Given the description of an element on the screen output the (x, y) to click on. 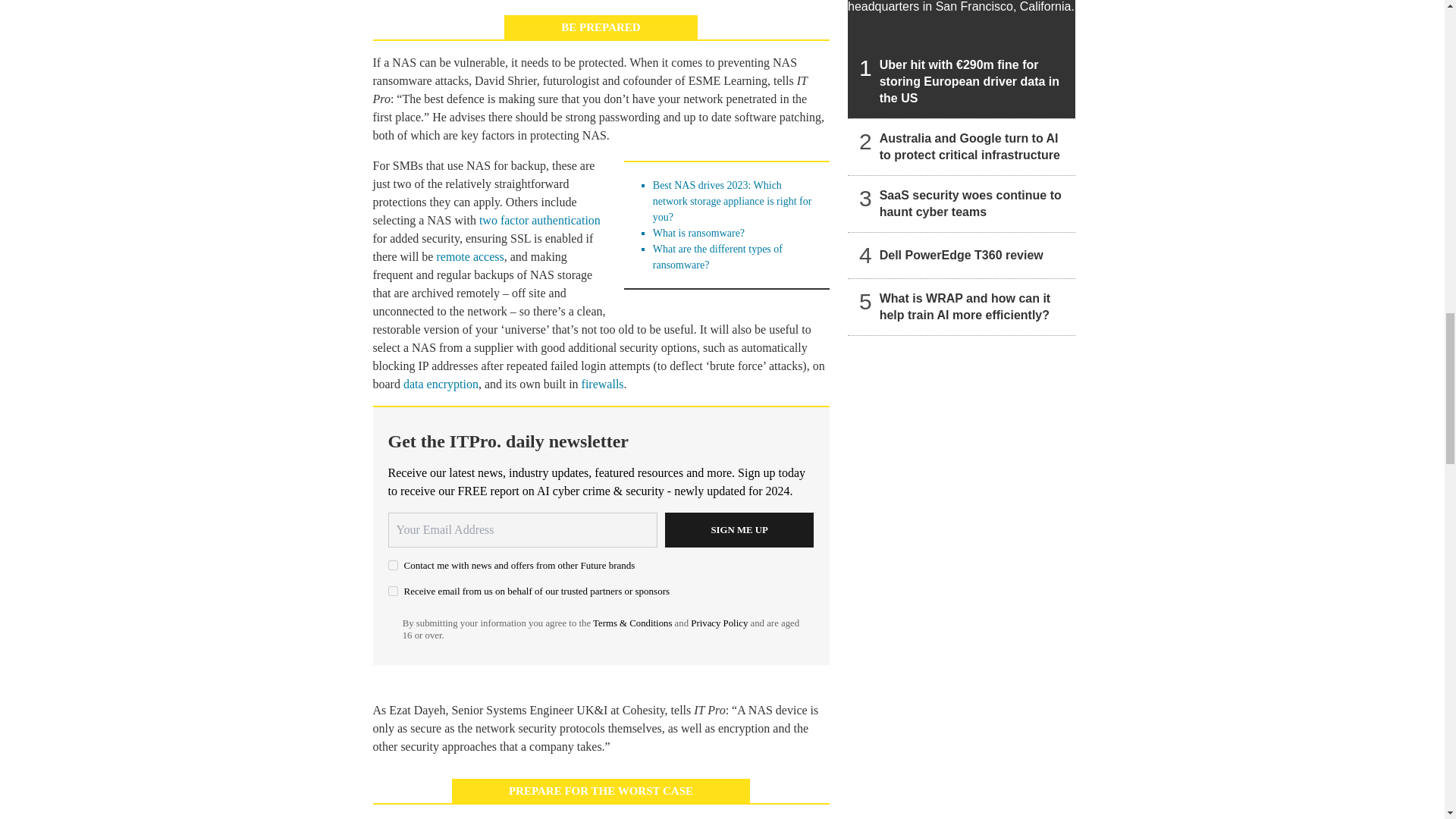
Sign me up (739, 529)
on (392, 590)
on (392, 565)
